Given the description of an element on the screen output the (x, y) to click on. 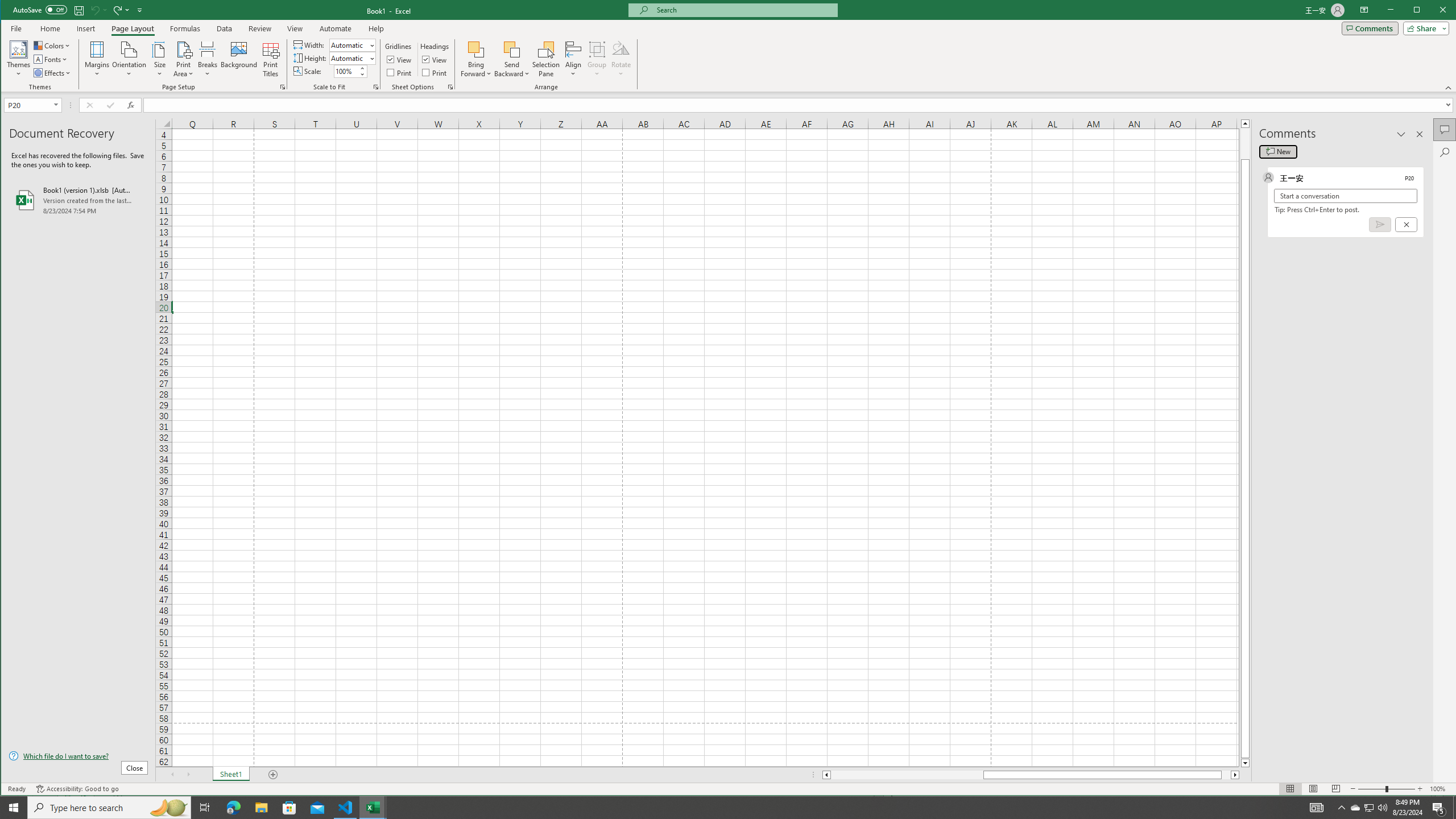
Less (361, 73)
Fonts (51, 59)
Search (1444, 151)
Action Center, 5 new notifications (1439, 807)
Send Backward (512, 59)
Print Area (183, 59)
Themes (18, 59)
Rotate (620, 59)
